Given the description of an element on the screen output the (x, y) to click on. 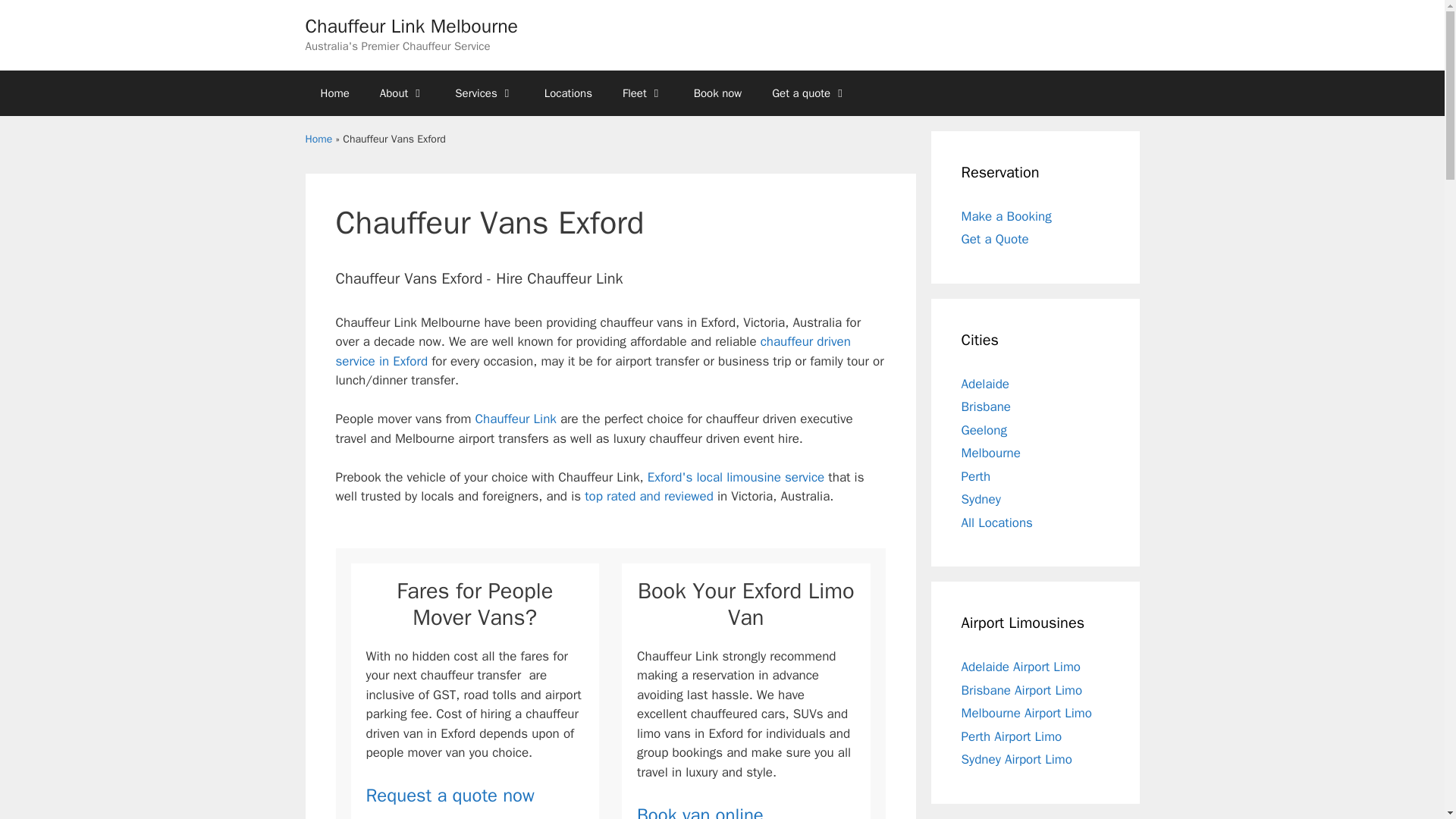
Home (334, 92)
Fleet (642, 92)
Chauffeur Link Melbourne (411, 25)
About (402, 92)
Locations (568, 92)
Services (483, 92)
